Given the description of an element on the screen output the (x, y) to click on. 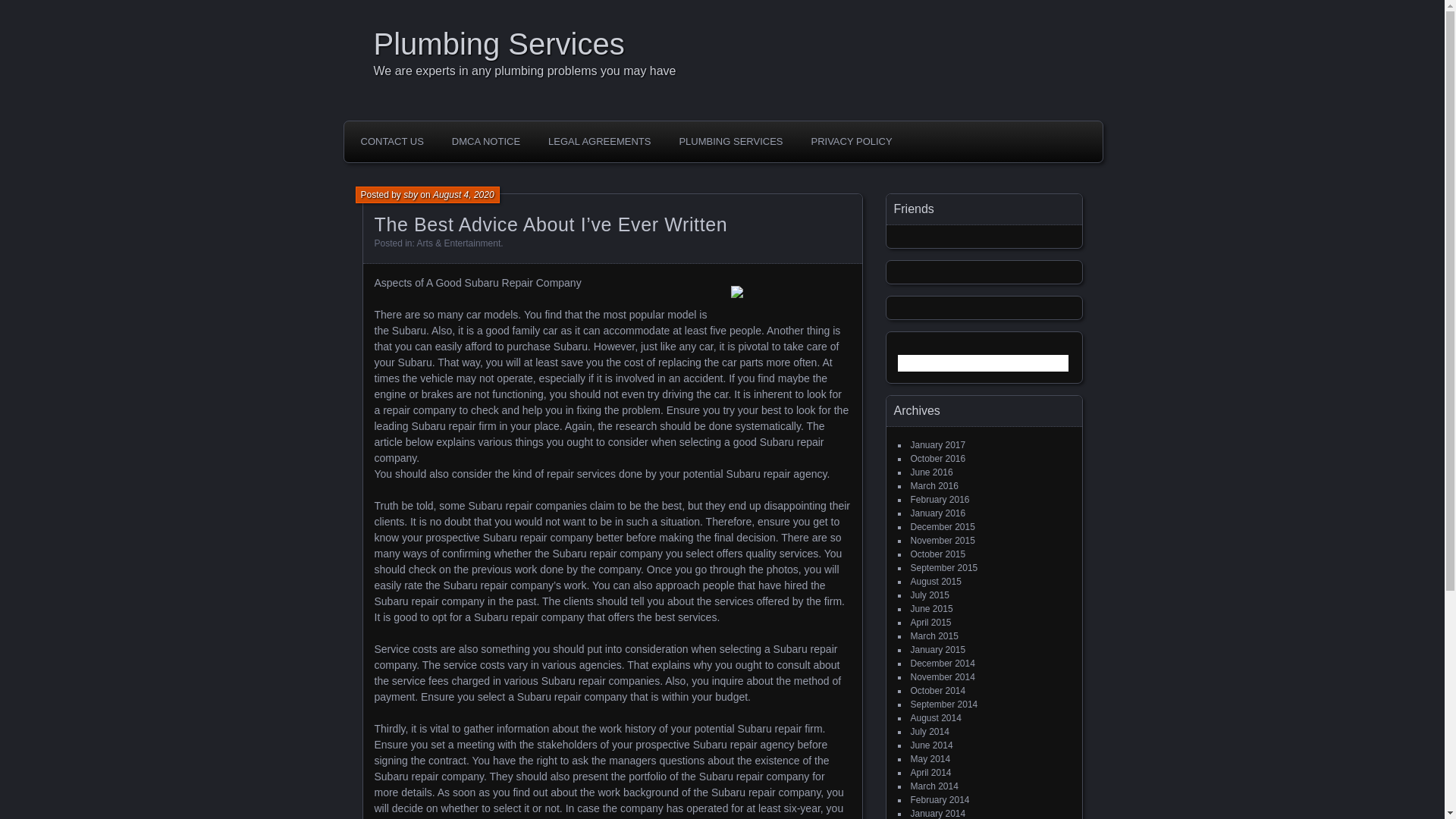
January 2015 (937, 649)
January 2016 (937, 512)
July 2015 (929, 594)
August 4, 2020 (463, 194)
June 2014 (931, 745)
July 2014 (929, 731)
March 2015 (934, 635)
We are experts in any plumbing problems you may have (726, 71)
View all posts by sby (410, 194)
Search (21, 7)
